Given the description of an element on the screen output the (x, y) to click on. 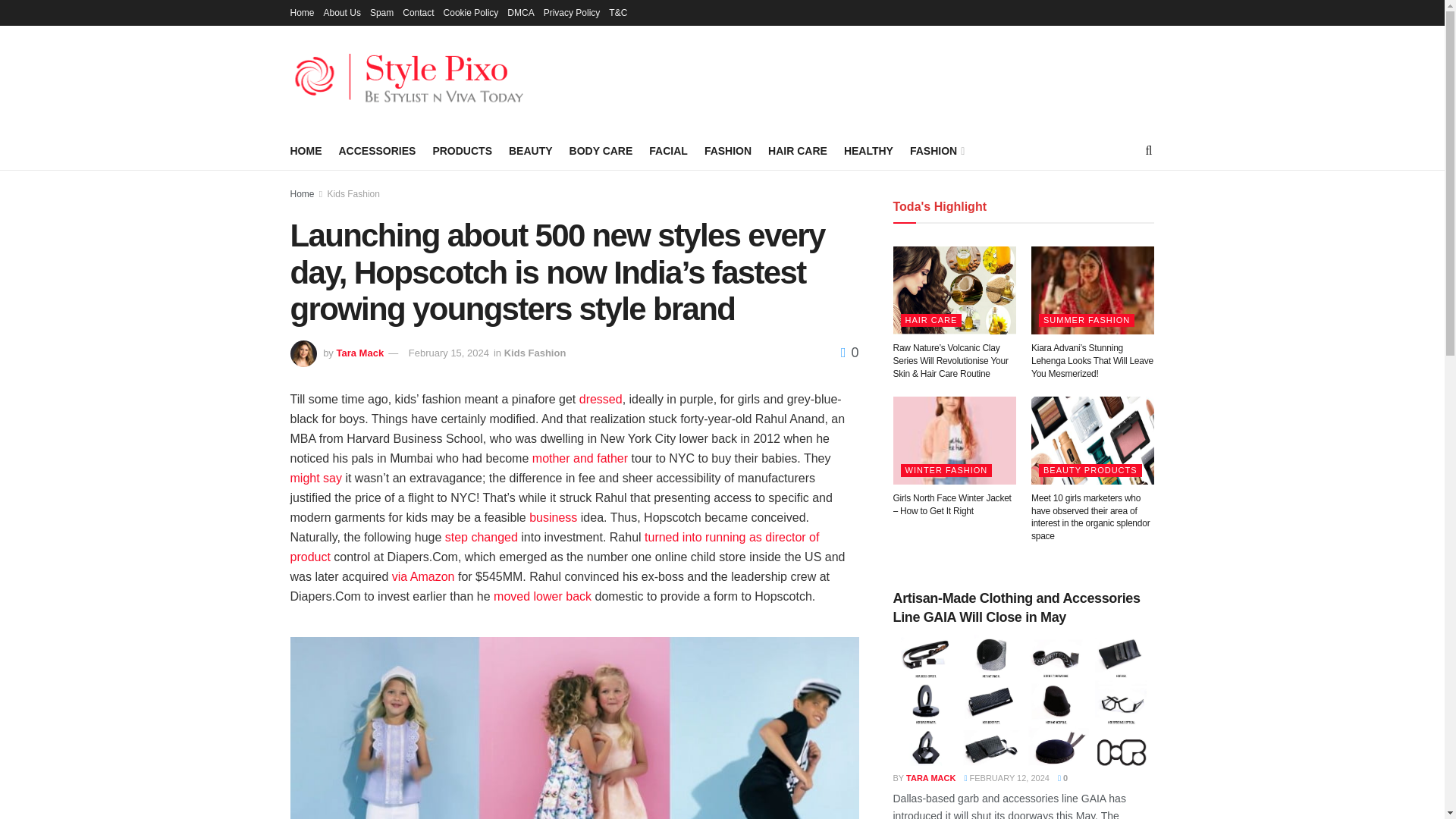
FACIAL (668, 150)
PRODUCTS (462, 150)
FASHION (727, 150)
Girls North Face Winter Jacket - How to Get It Right 5 (954, 440)
HAIR CARE (797, 150)
HOME (305, 150)
FASHION (936, 150)
ACCESSORIES (375, 150)
HEALTHY (868, 150)
BODY CARE (601, 150)
Cookie Policy (471, 12)
Contact (418, 12)
About Us (342, 12)
